Given the description of an element on the screen output the (x, y) to click on. 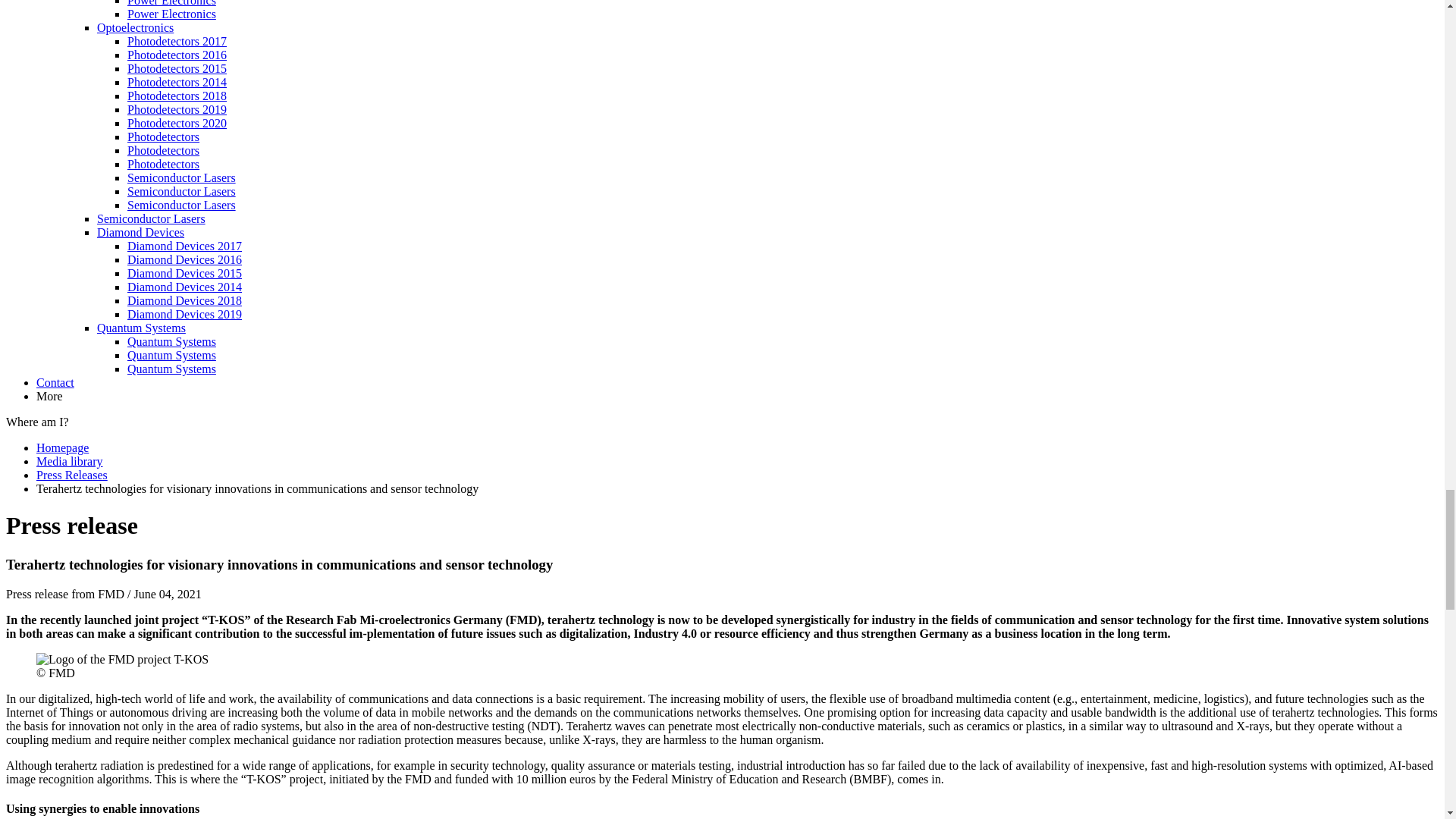
T-KOS (122, 659)
